Given the description of an element on the screen output the (x, y) to click on. 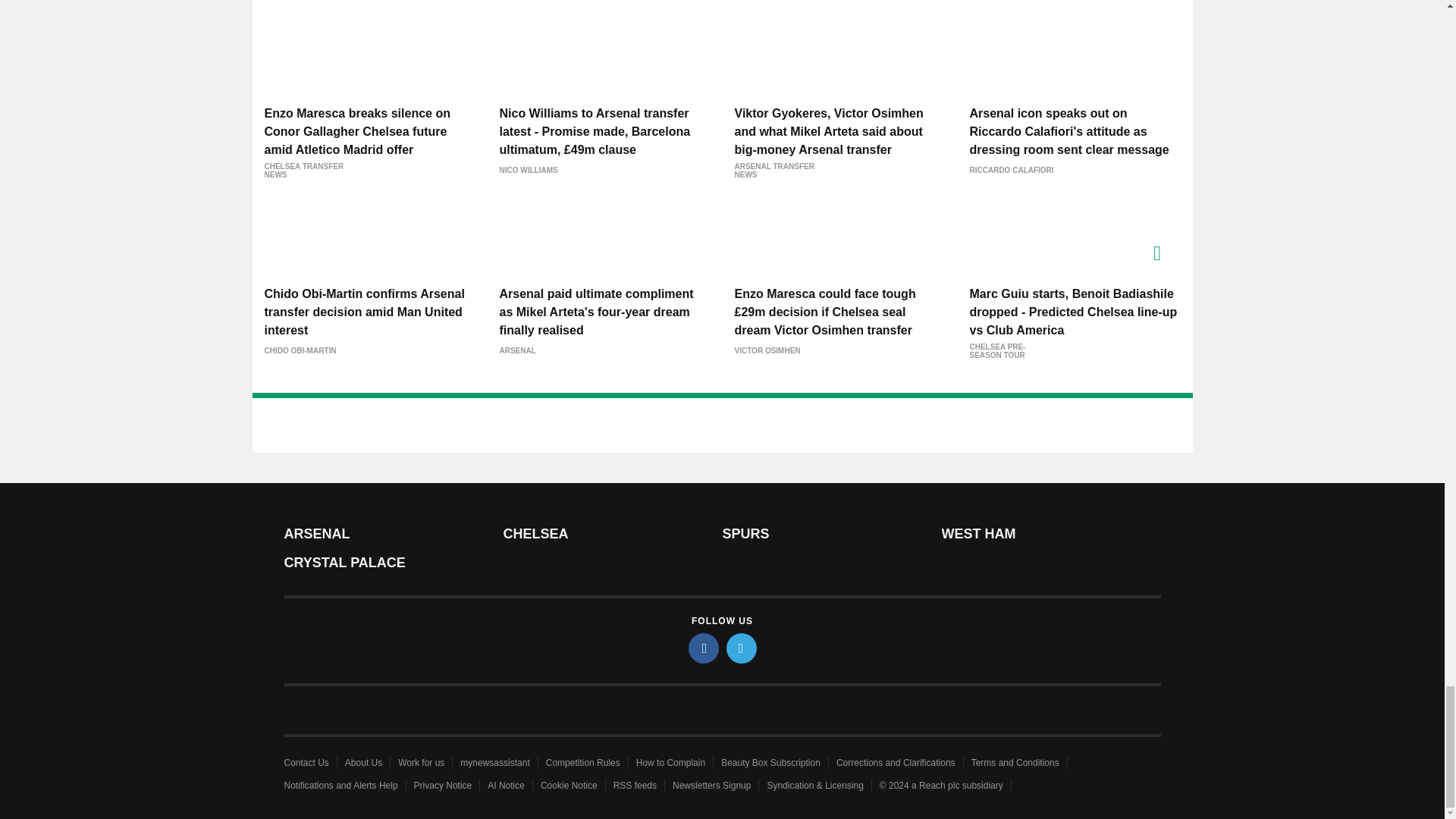
twitter (741, 648)
facebook (703, 648)
